Given the description of an element on the screen output the (x, y) to click on. 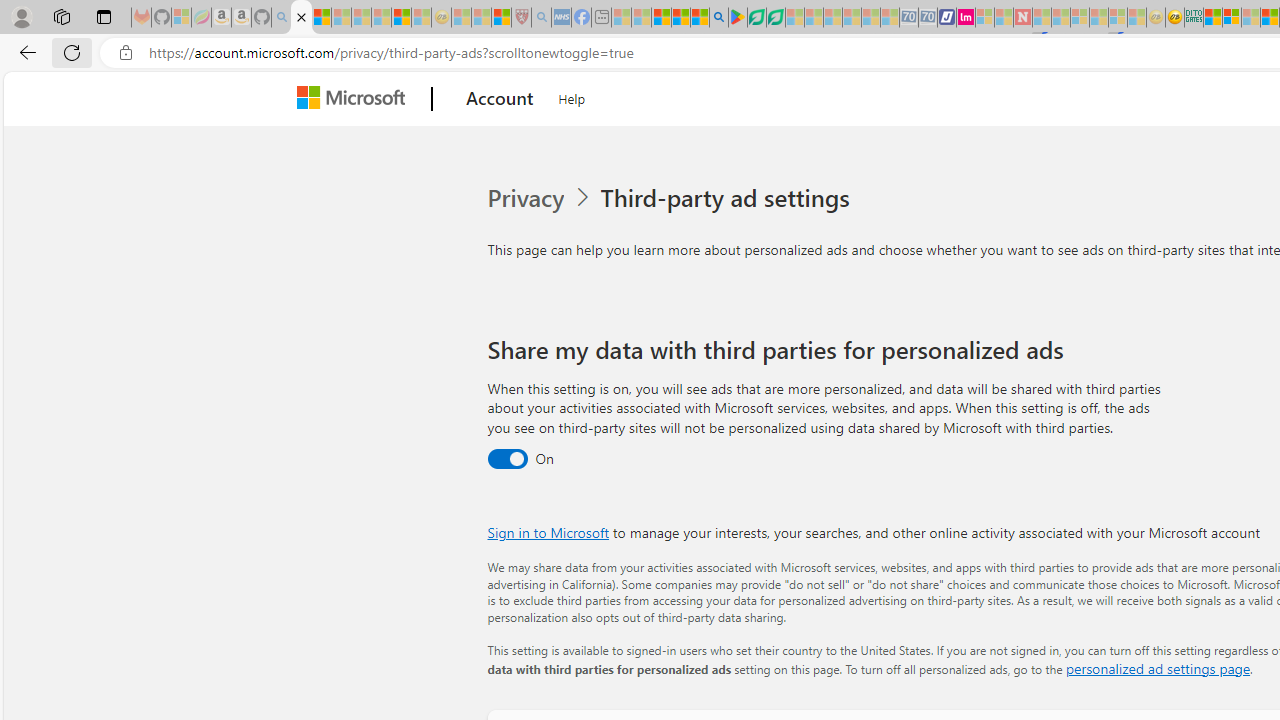
Pets - MSN (680, 17)
Jobs - lastminute.com Investor Portal (966, 17)
